Given the description of an element on the screen output the (x, y) to click on. 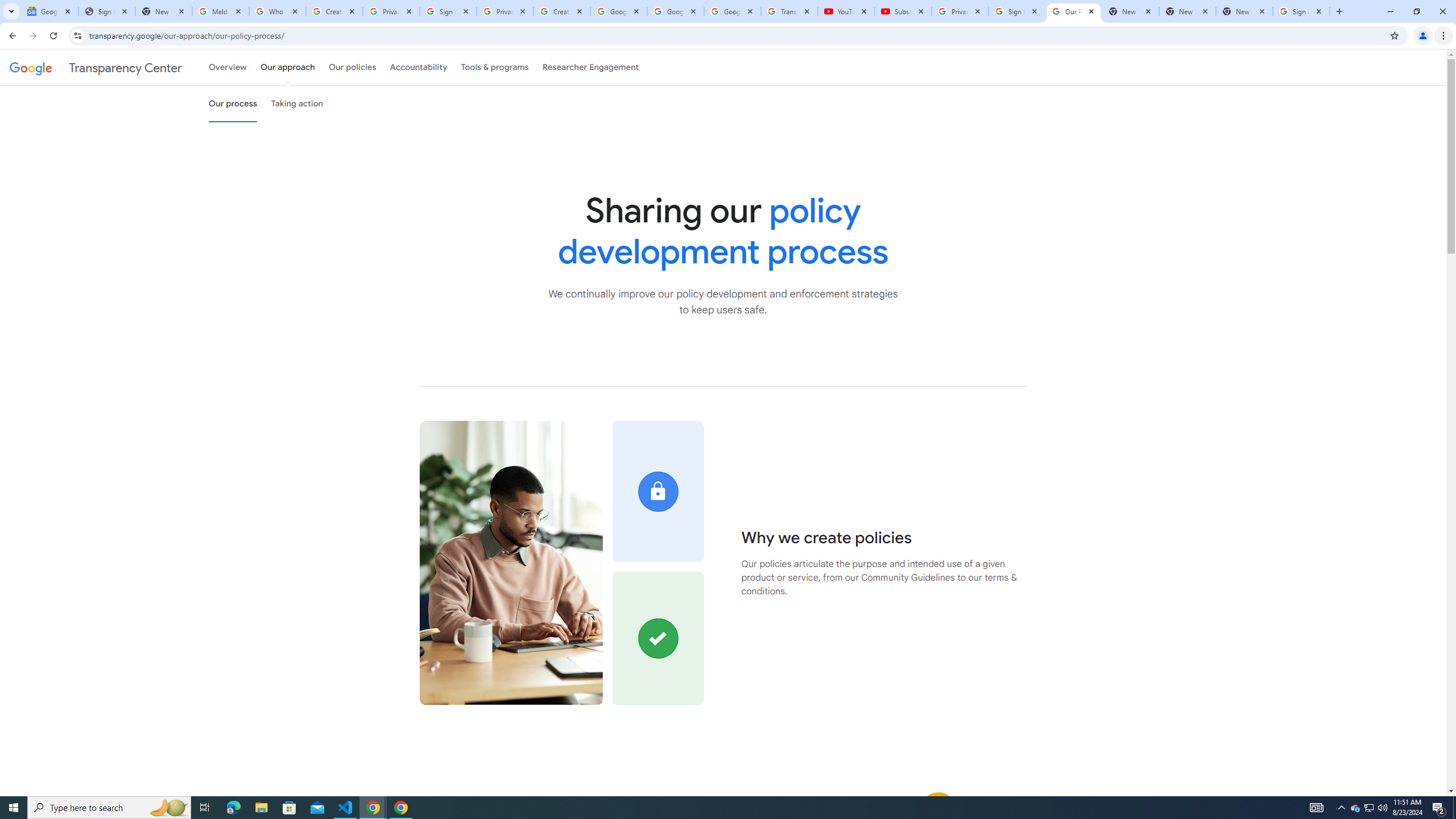
Google News (49, 11)
New Tab (1244, 11)
Taking action (296, 103)
Our process (232, 103)
Google Account (731, 11)
Transparency Center (95, 67)
Our approach (287, 67)
